Given the description of an element on the screen output the (x, y) to click on. 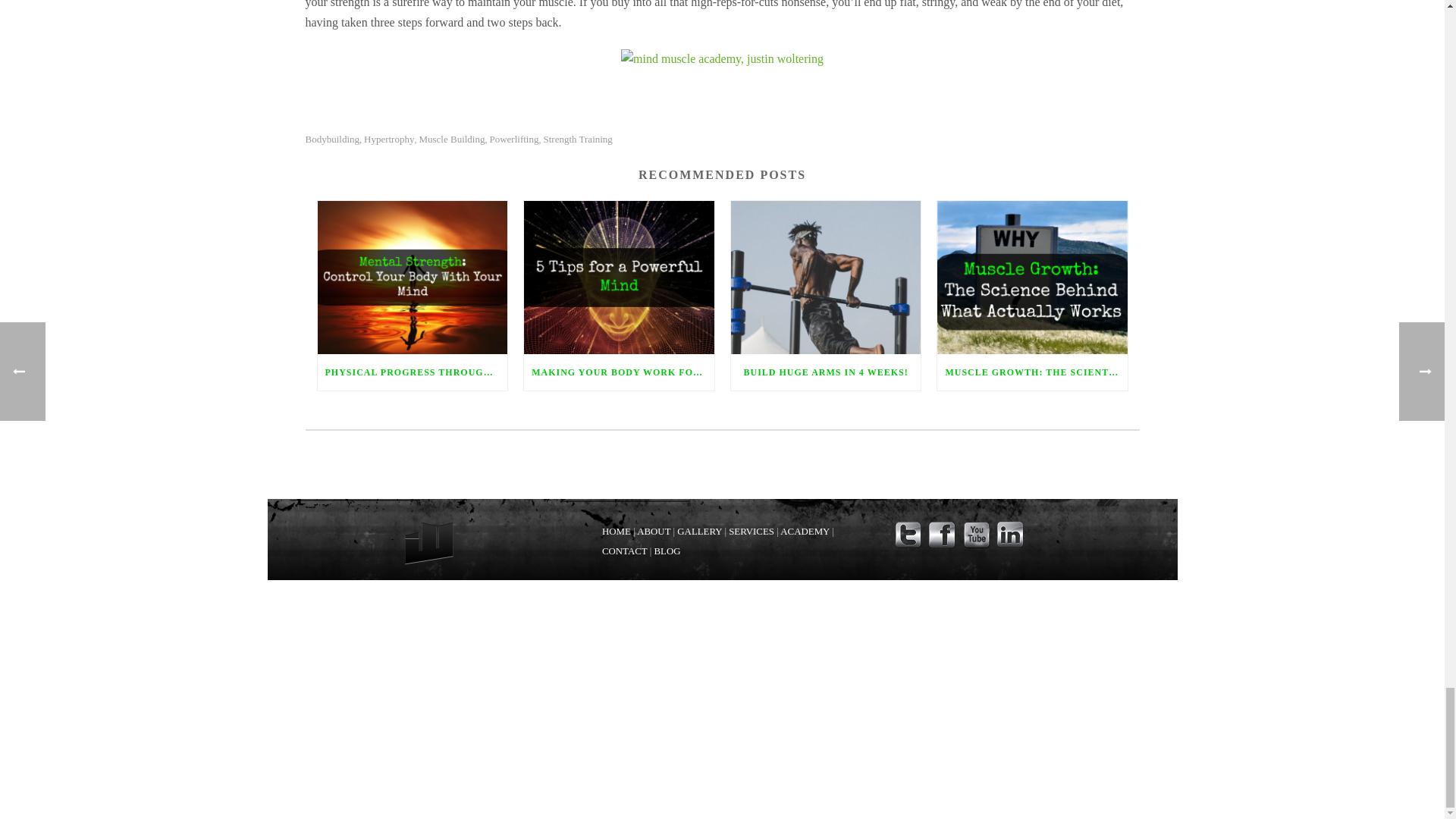
Muscle Growth: The Scientific Secrets to Building Mass Fast (1031, 276)
Bodybuilding (331, 139)
Making Your Body Work for YOU: 5 Tips for a Powerful Mind! (619, 276)
Hypertrophy (388, 139)
Build Huge Arms in 4 Weeks! (825, 276)
